Given the description of an element on the screen output the (x, y) to click on. 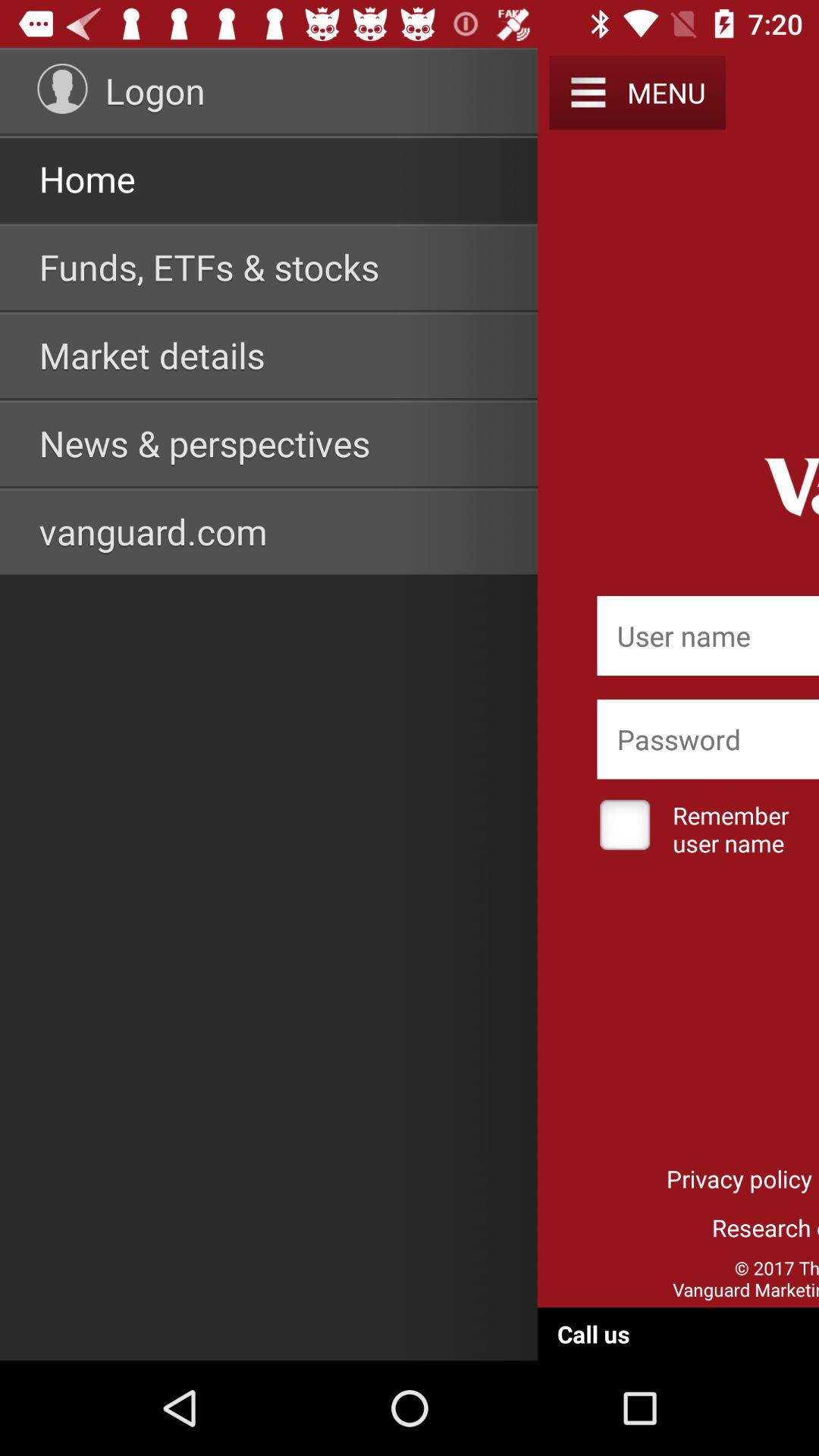
swipe until the news & perspectives app (204, 443)
